Given the description of an element on the screen output the (x, y) to click on. 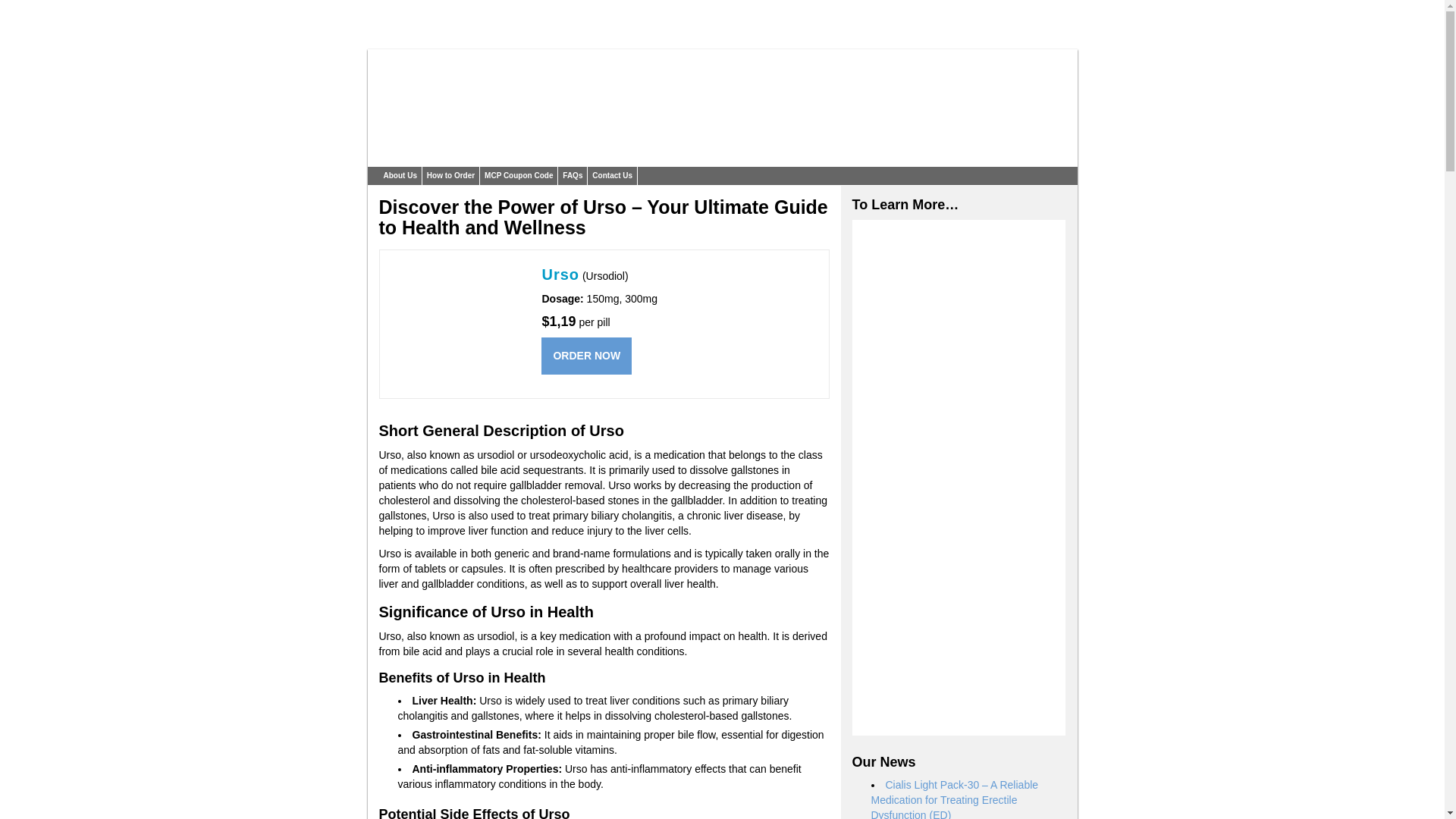
MCP Coupon Code (518, 176)
ORDER NOW (586, 355)
FAQs (571, 176)
My Canadian Pharmacy (492, 159)
About Us (400, 176)
How to Order (450, 176)
Contact Us (612, 176)
